Given the description of an element on the screen output the (x, y) to click on. 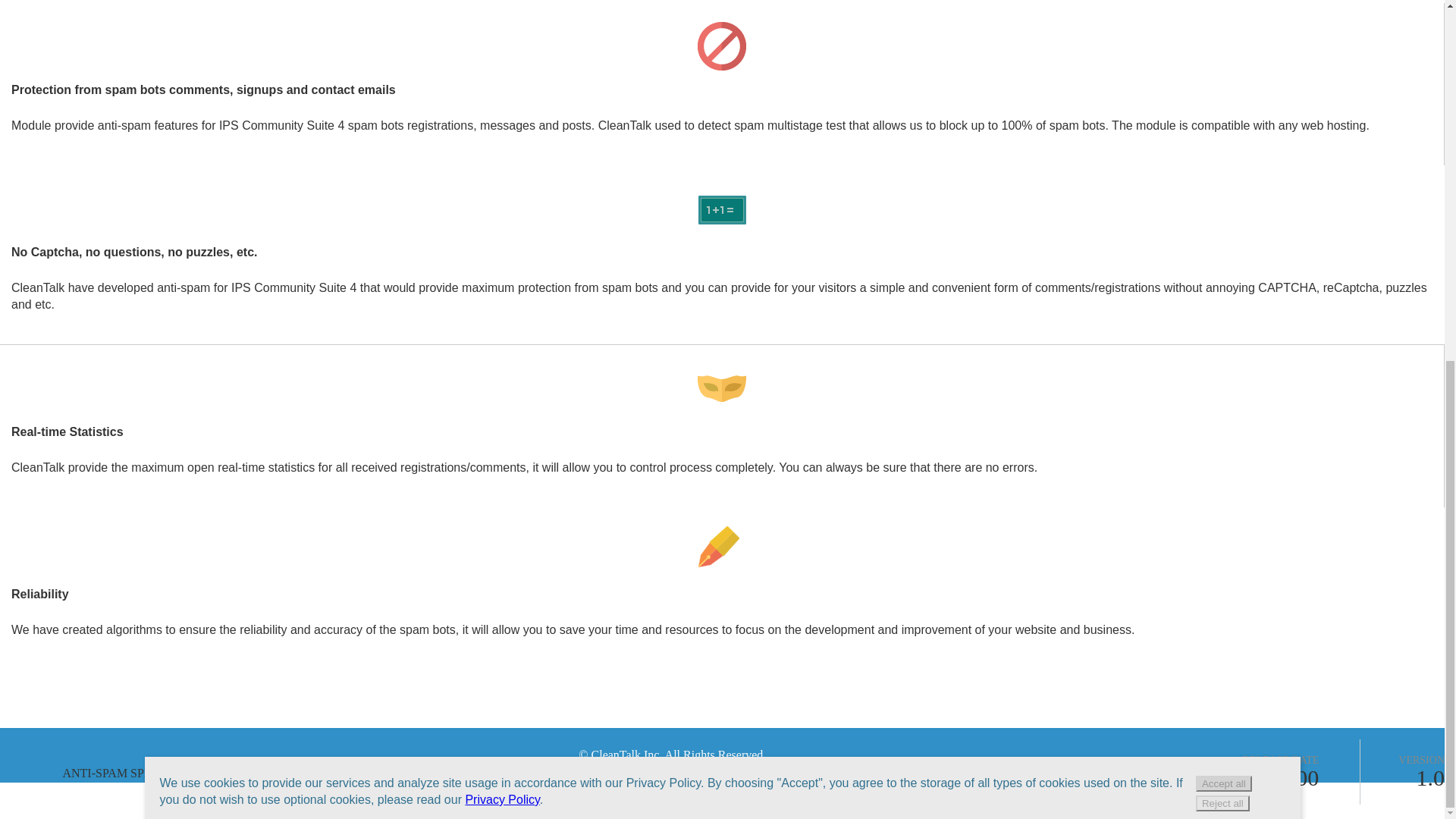
Reject all (1222, 161)
Accept all (1223, 141)
Privacy Policy (501, 157)
